Given the description of an element on the screen output the (x, y) to click on. 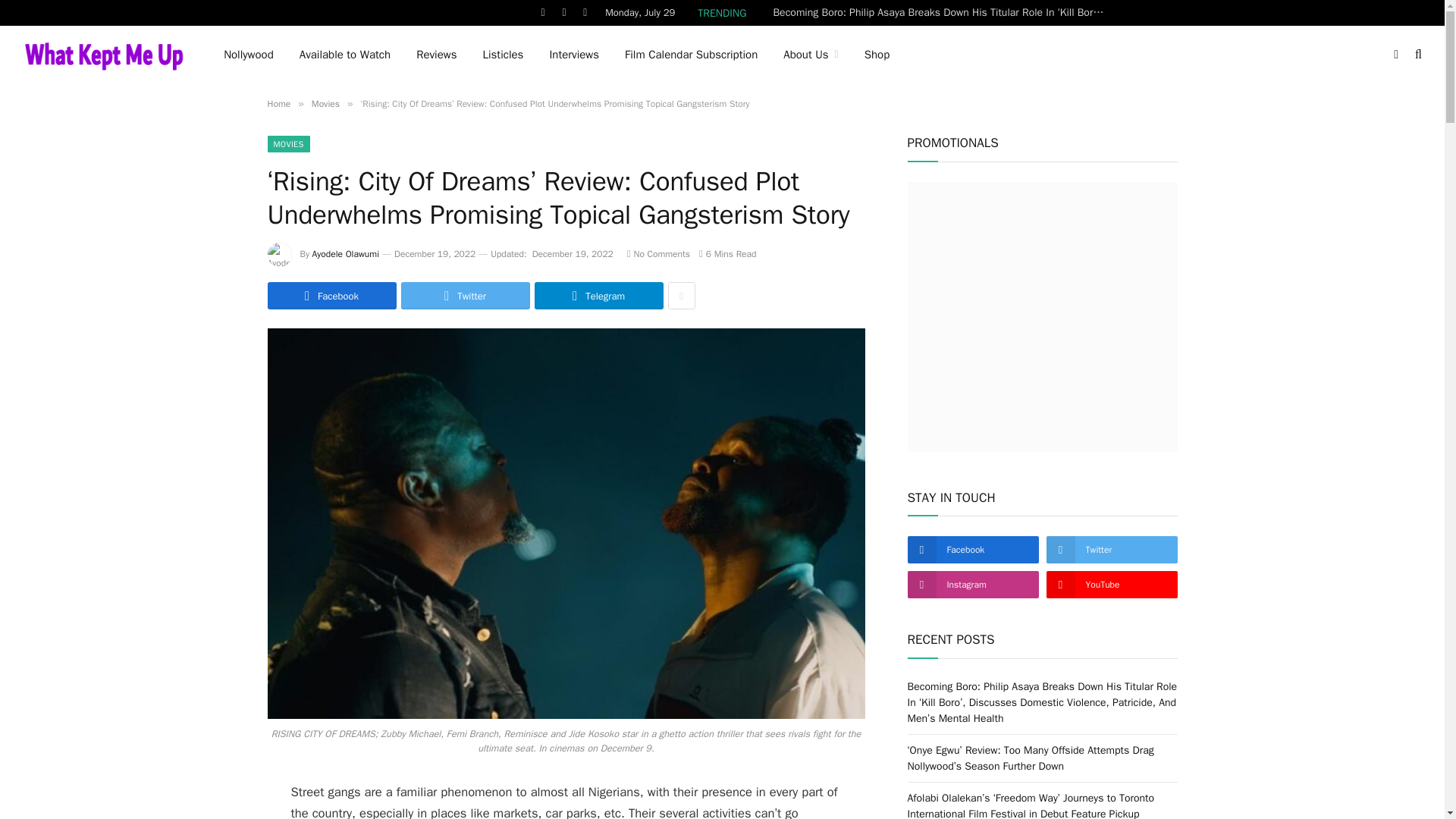
Reviews (435, 54)
Movies (325, 103)
Available to Watch (344, 54)
About Us (810, 54)
Shop (876, 54)
MOVIES (287, 143)
Listicles (501, 54)
Home (277, 103)
Switch to Dark Design - easier on eyes. (1396, 54)
Posts by Ayodele Olawumi (345, 254)
Share on Facebook (331, 295)
Share on Telegram (598, 295)
Film Calendar Subscription (690, 54)
Interviews (573, 54)
Nollywood (248, 54)
